Given the description of an element on the screen output the (x, y) to click on. 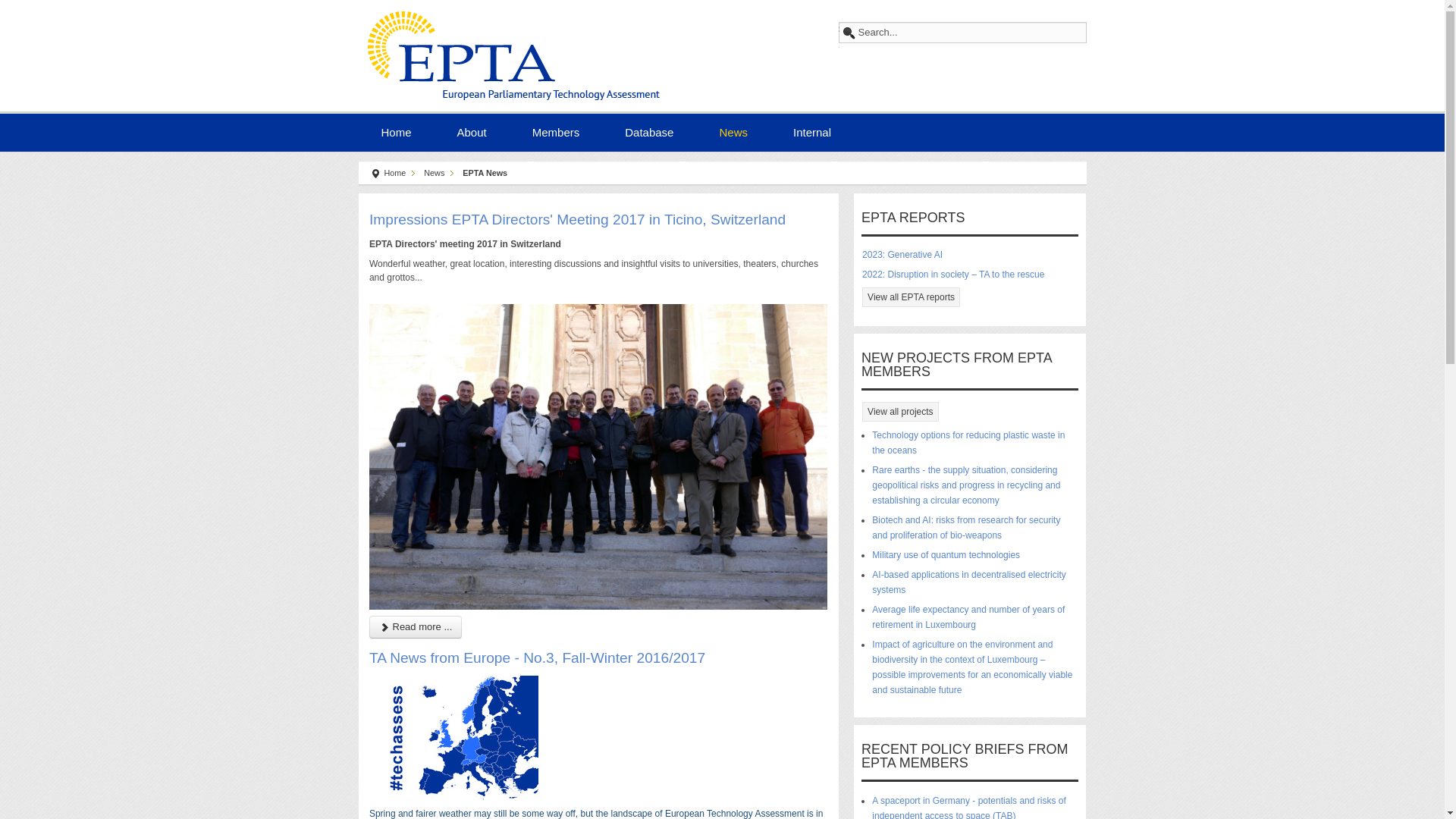
Search... (962, 32)
Home (395, 131)
Database (648, 131)
About (471, 131)
Members (555, 131)
Search... (962, 32)
You are here:  (374, 173)
